Given the description of an element on the screen output the (x, y) to click on. 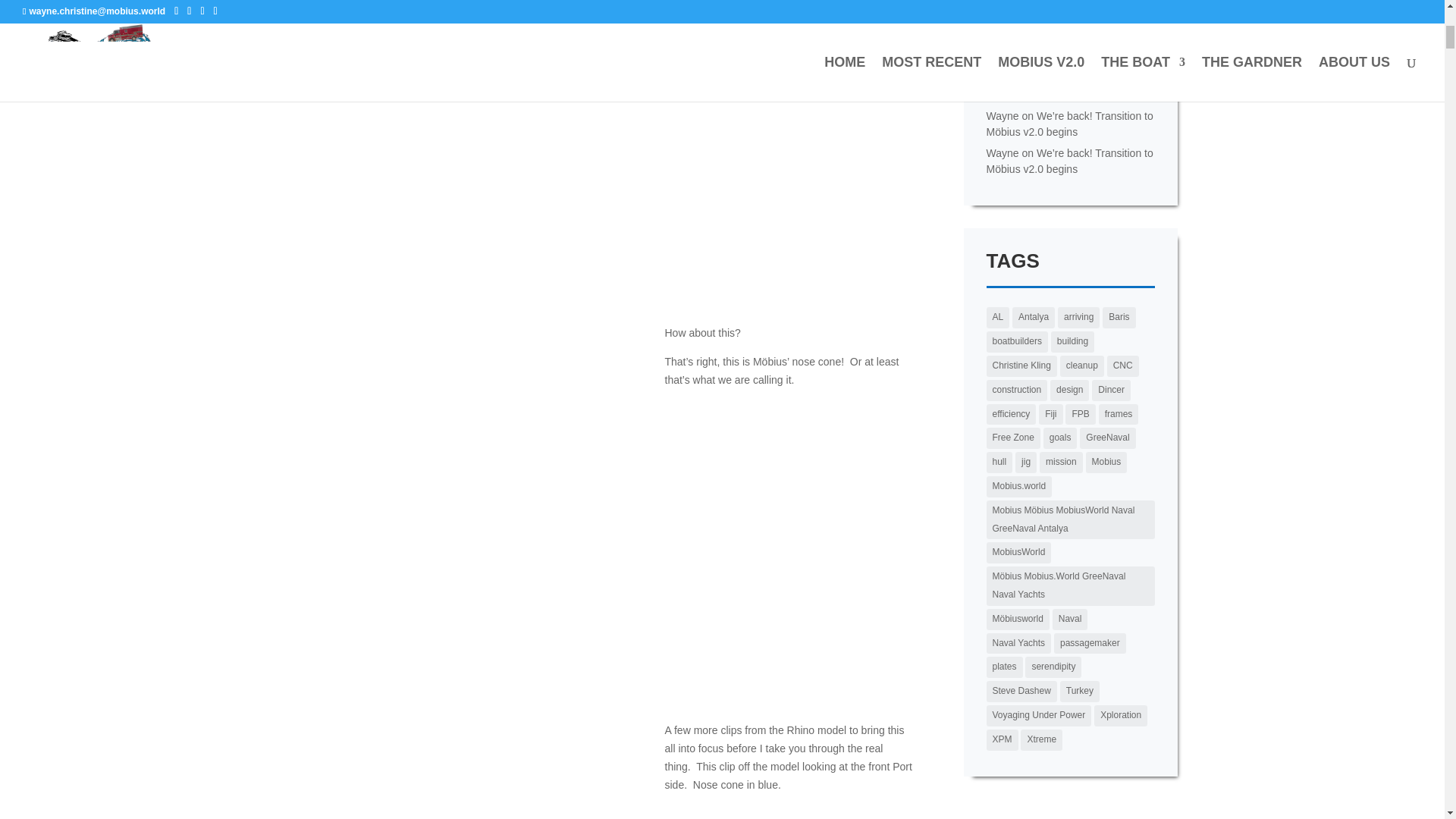
Anchor Deck looking aft (457, 770)
